Given the description of an element on the screen output the (x, y) to click on. 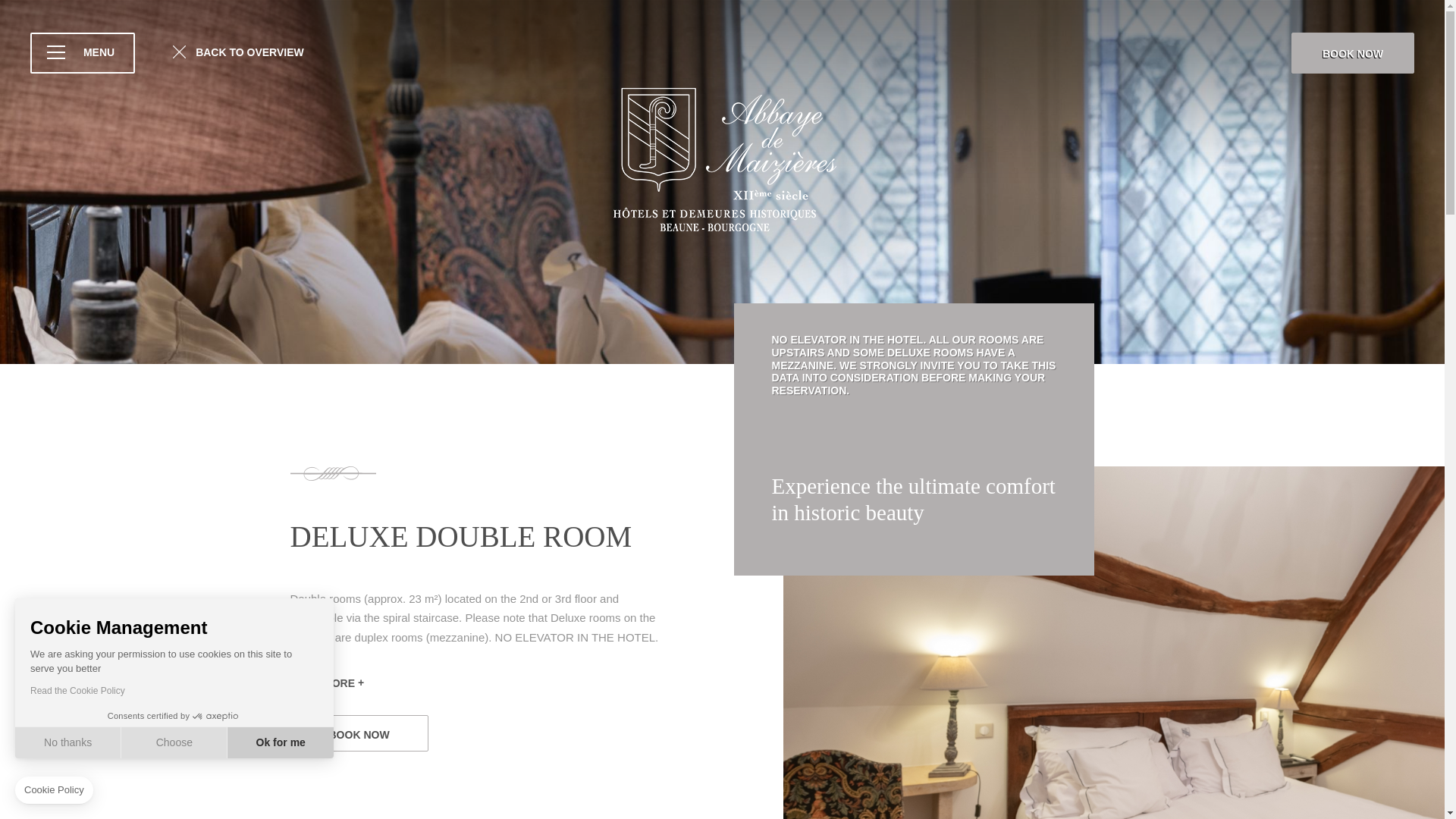
MENU (82, 52)
READ MORE (326, 684)
0 (104, 767)
Close the widget without accepting cookie settings (53, 789)
BACK TO OVERVIEW (238, 53)
BOOK NOW (358, 732)
BOOK NOW (1352, 52)
